Given the description of an element on the screen output the (x, y) to click on. 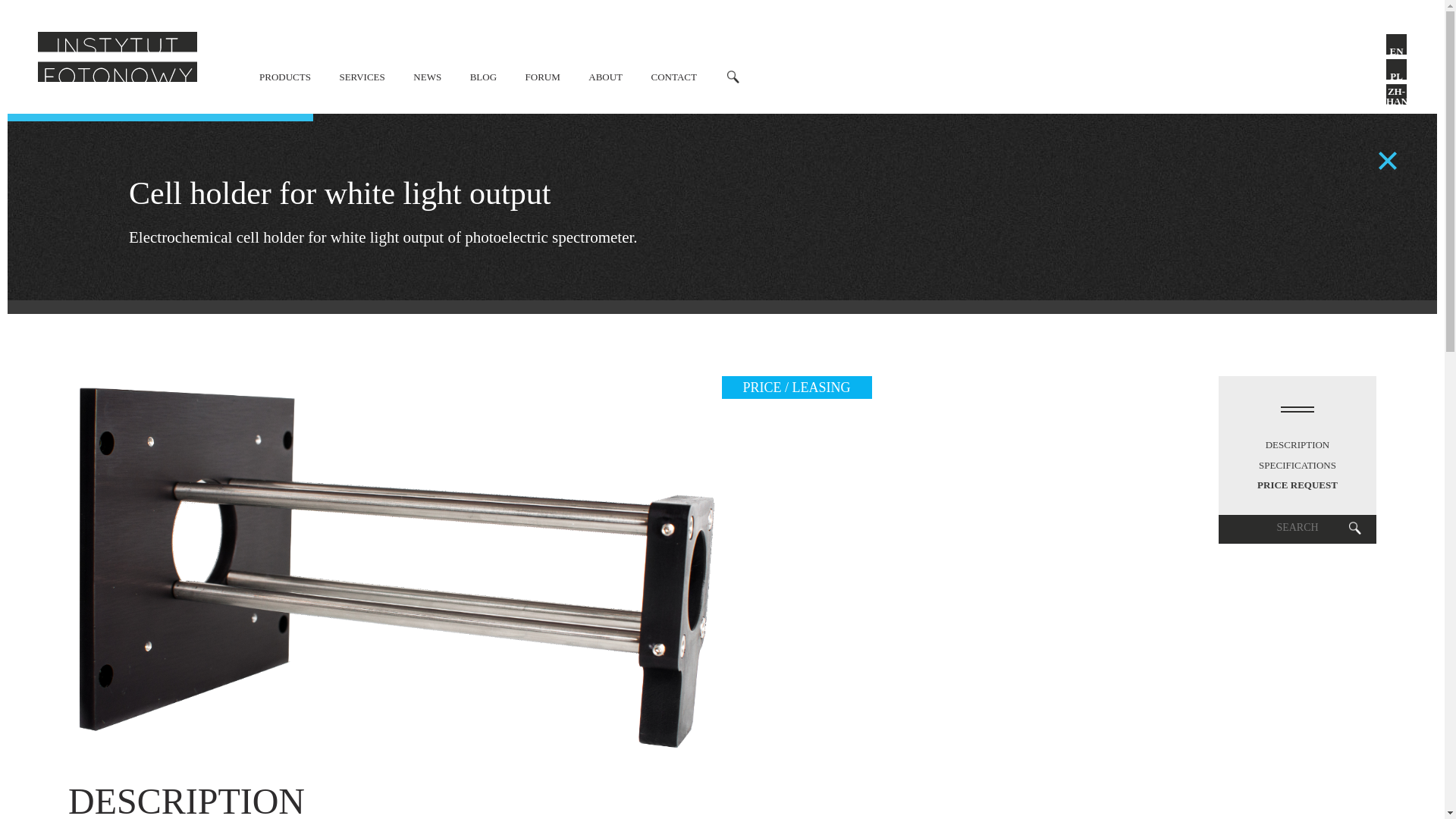
BLOG (483, 77)
PRICE REQUEST (1297, 485)
FORUM (542, 77)
ABOUT (605, 77)
SPECIFICATIONS (1297, 465)
PRODUCTS (285, 77)
ZH-HANS (1396, 94)
NEWS (427, 77)
SERVICES (361, 77)
CONTACT (673, 77)
DESCRIPTION (1297, 444)
PL (1396, 68)
